Given the description of an element on the screen output the (x, y) to click on. 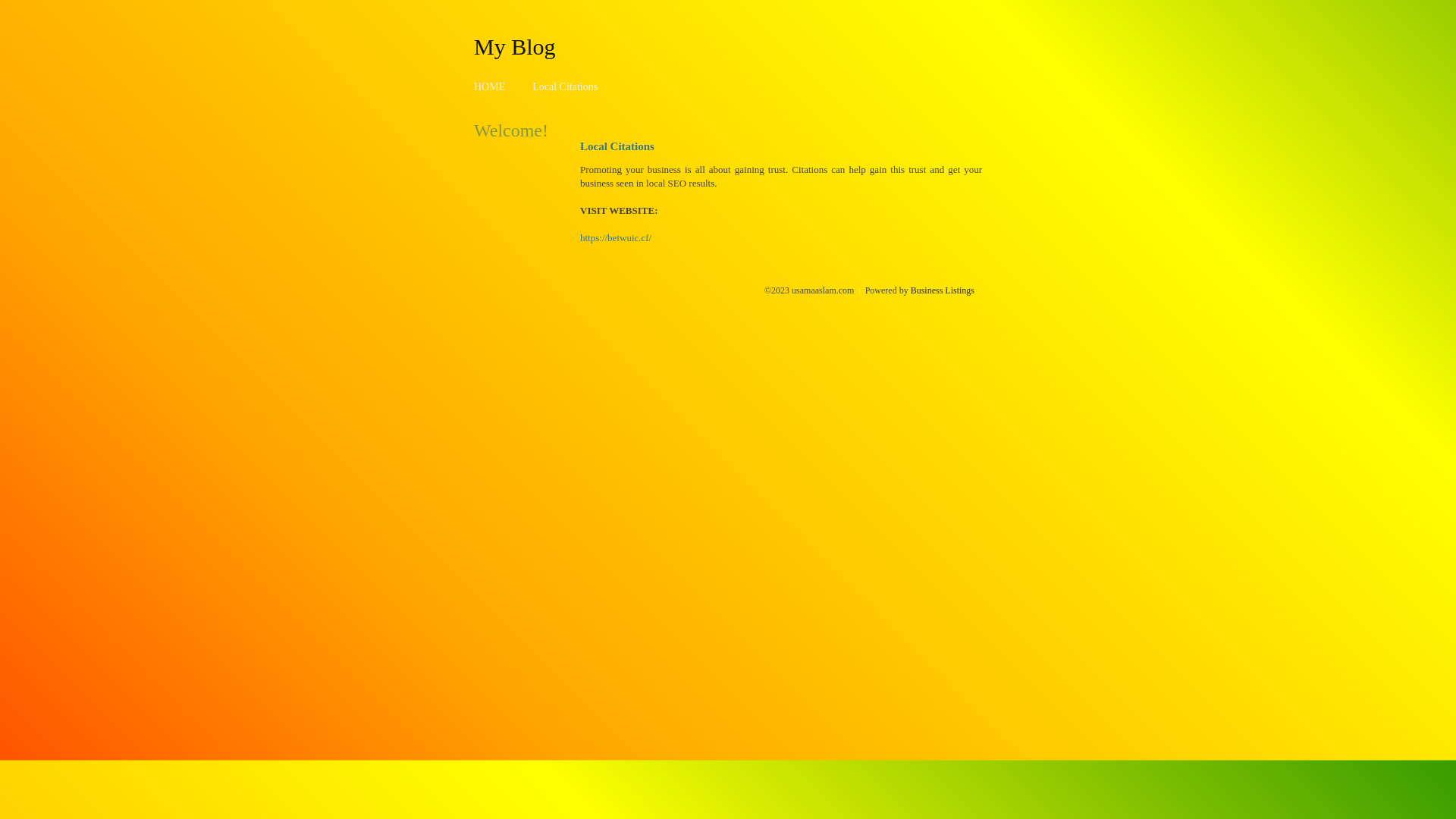
My Blog Element type: text (514, 46)
HOME Element type: text (489, 86)
Local Citations Element type: text (564, 86)
Business Listings Element type: text (942, 290)
https://betwuic.cf/ Element type: text (615, 237)
